Given the description of an element on the screen output the (x, y) to click on. 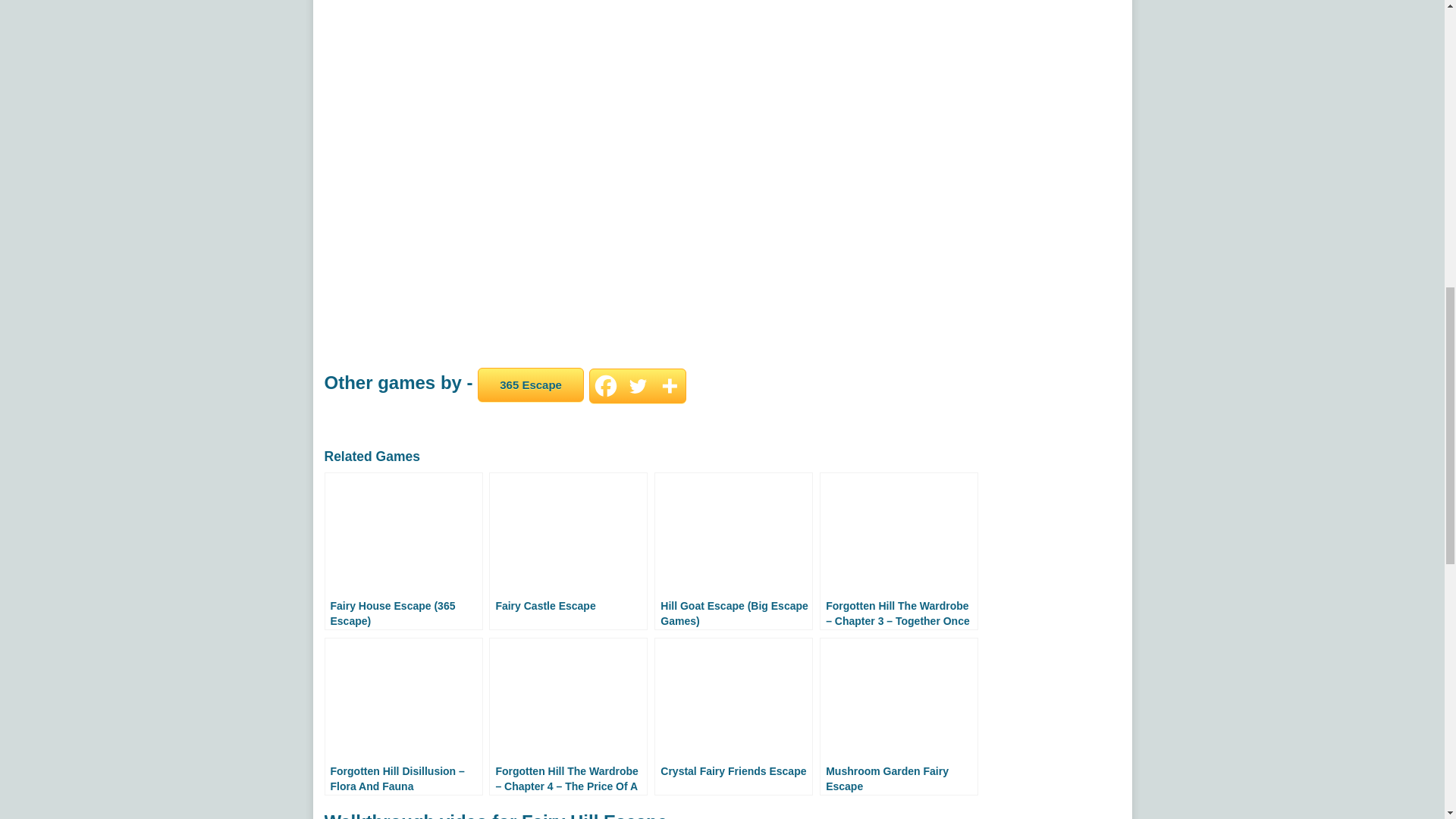
Fairy Castle Escape (568, 550)
365 Escape (530, 384)
Fairy Castle Escape (568, 550)
Mushroom Garden Fairy Escape (898, 716)
More (669, 385)
Crystal Fairy Friends Escape (732, 716)
Twitter (637, 385)
Facebook (605, 385)
